Given the description of an element on the screen output the (x, y) to click on. 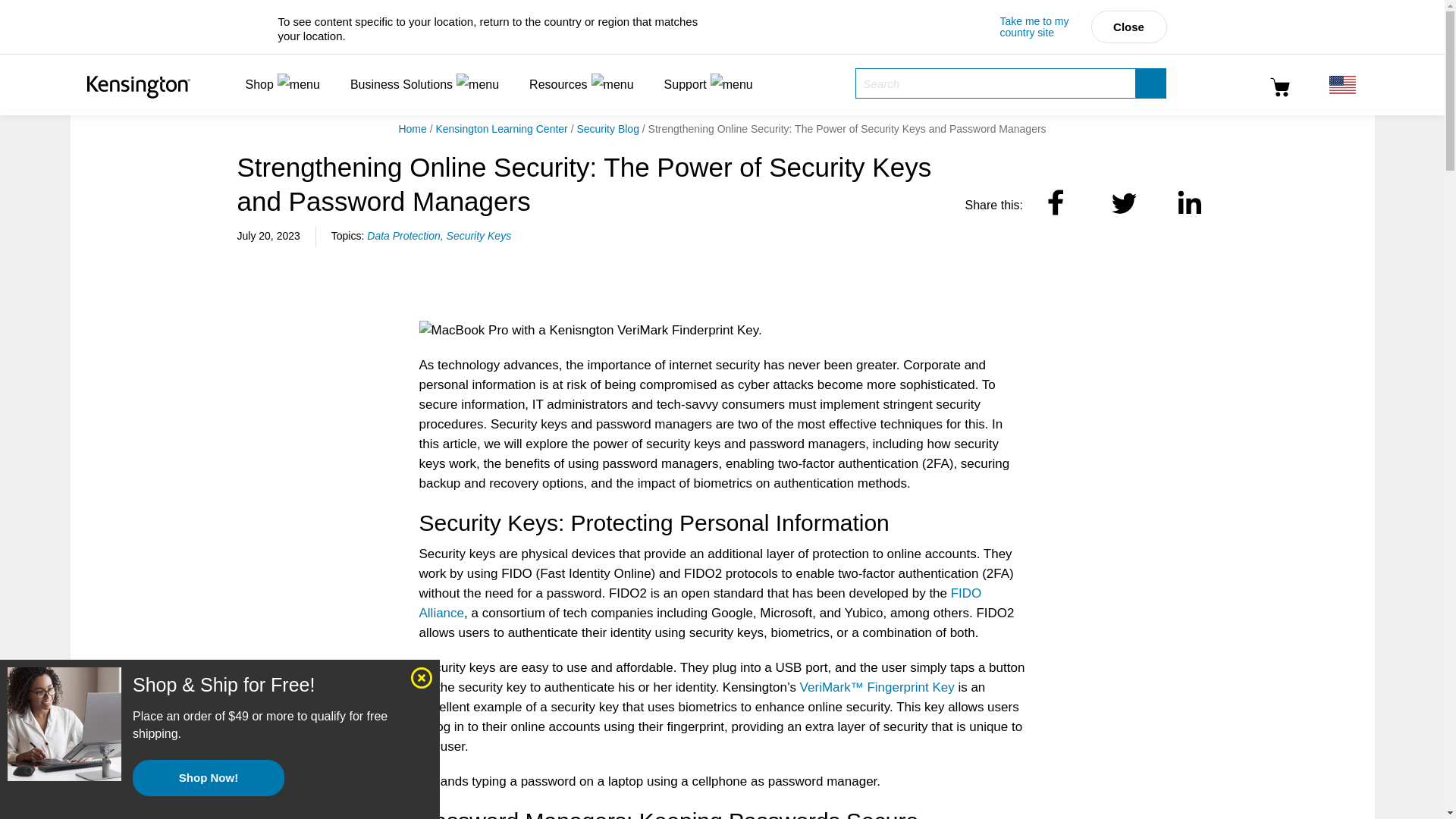
Shop (281, 84)
Shop Now! (207, 778)
Take me to my country site (1036, 26)
Search (1150, 82)
Close (1128, 26)
